Given the description of an element on the screen output the (x, y) to click on. 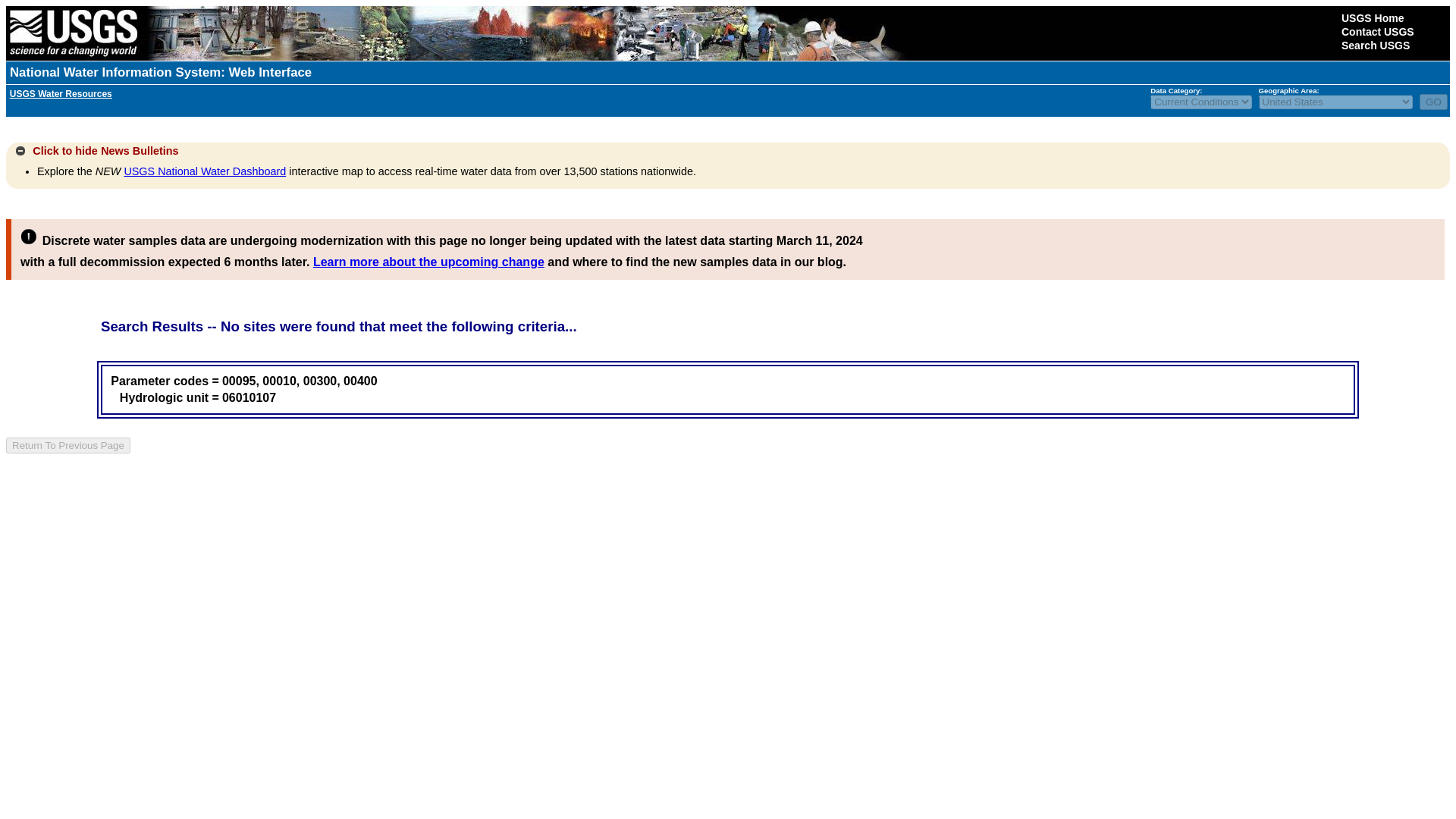
Search USGS (1374, 45)
Learn more about the upcoming change (428, 261)
USGS Water Resources (61, 93)
U.S. Geological Survey Home Page (73, 32)
USGS Home (1371, 18)
USGS National Water Dashboard (204, 171)
Contact USGS (1376, 31)
National Water Information System: Web Interface (160, 72)
